Given the description of an element on the screen output the (x, y) to click on. 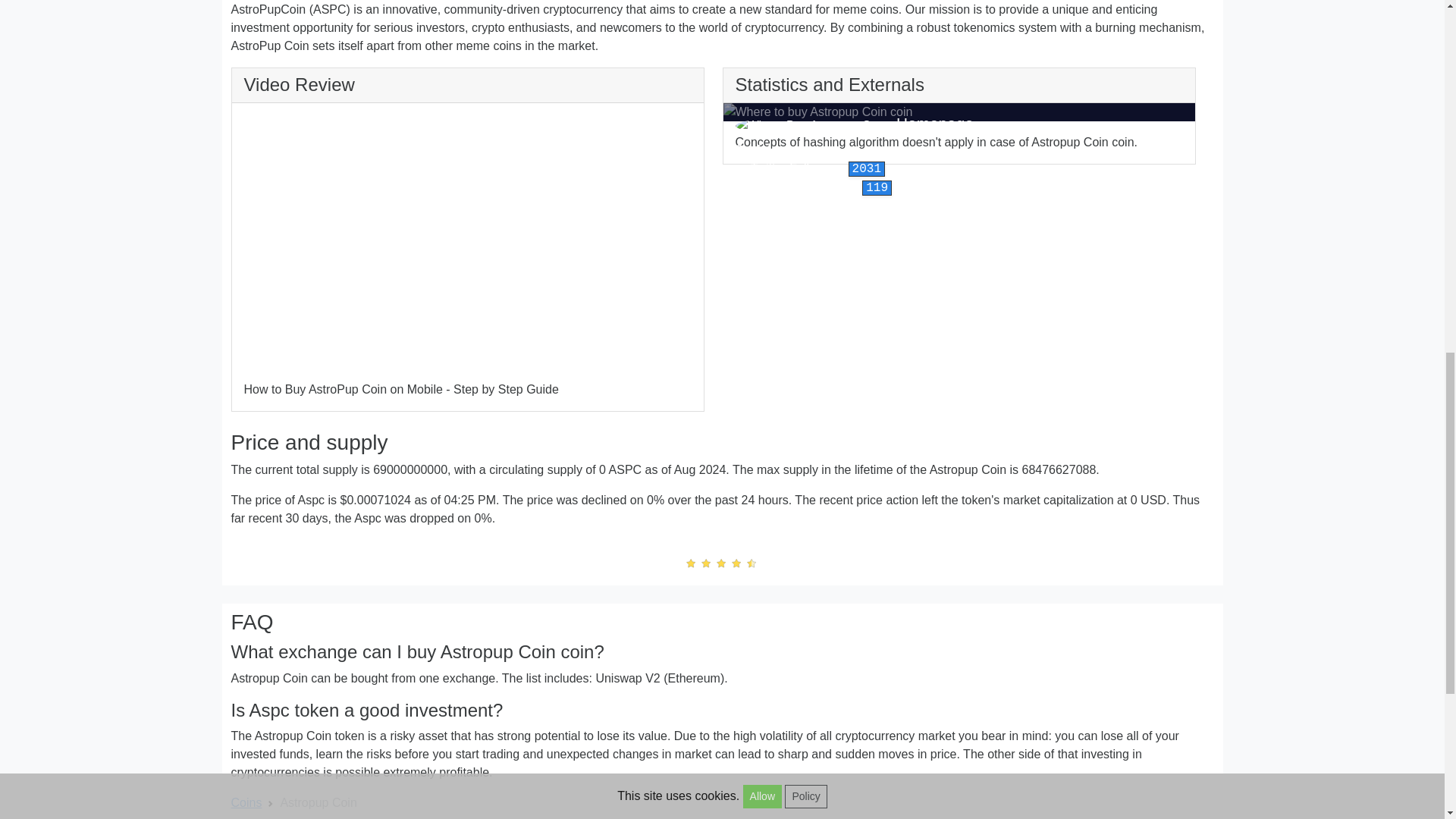
Homepage (935, 122)
Link to Twitter (810, 167)
Twitter Followers: 2031 (810, 167)
Link to Telegram Channel (813, 186)
Link to Project Astropup Coin Homepage (935, 122)
Coins (246, 802)
Telegram Followers: 119 (813, 186)
